Given the description of an element on the screen output the (x, y) to click on. 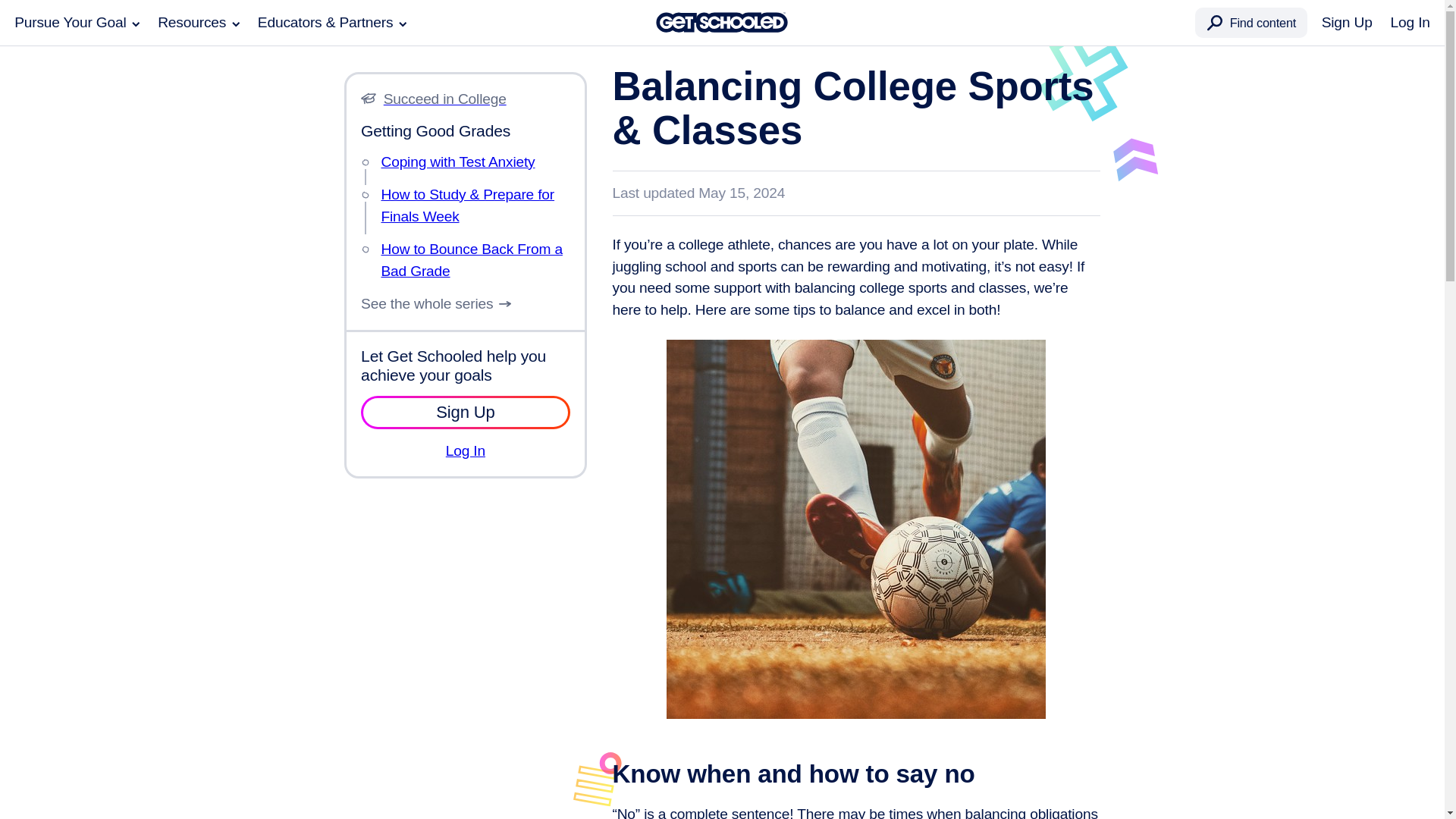
Pursue Your Goal (76, 23)
Find content (1251, 22)
Log In (1409, 23)
Resources (198, 23)
Sign Up (1347, 23)
